Given the description of an element on the screen output the (x, y) to click on. 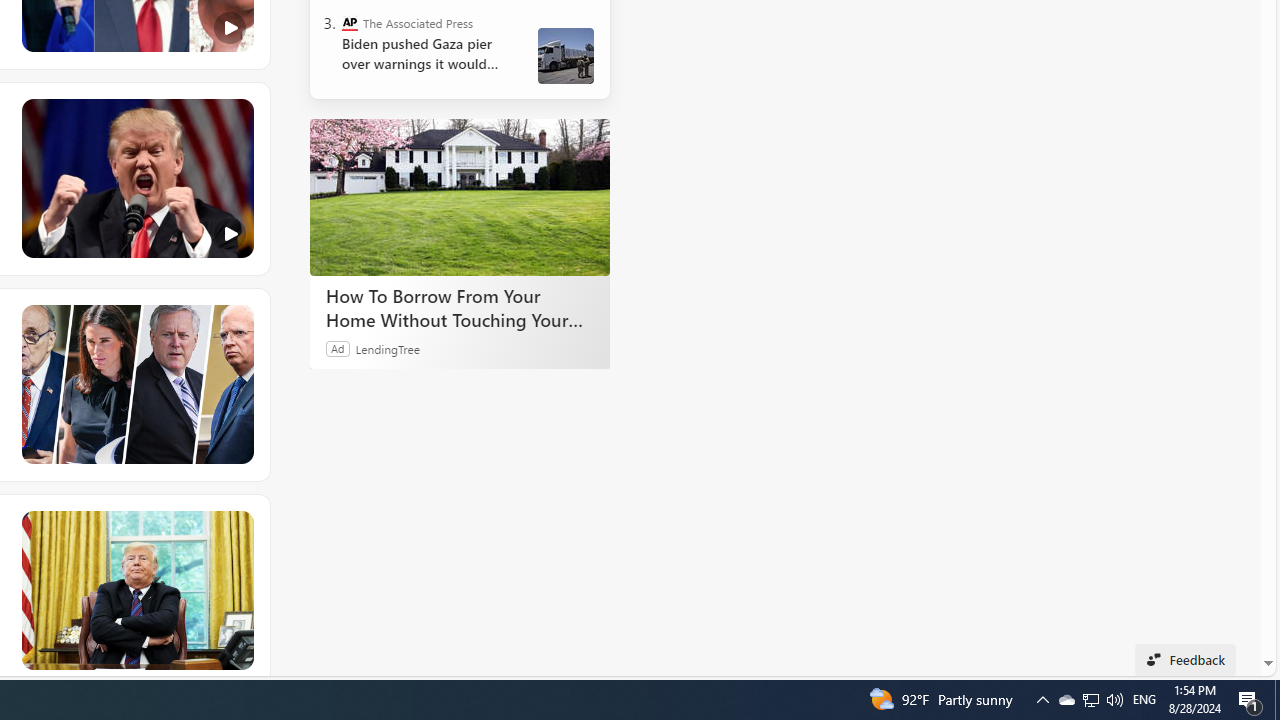
The Associated Press (349, 22)
How To Borrow From Your Home Without Touching Your Mortgage (459, 307)
How To Borrow From Your Home Without Touching Your Mortgage (459, 196)
LendingTree (387, 348)
Class: hero-image (136, 179)
